Given the description of an element on the screen output the (x, y) to click on. 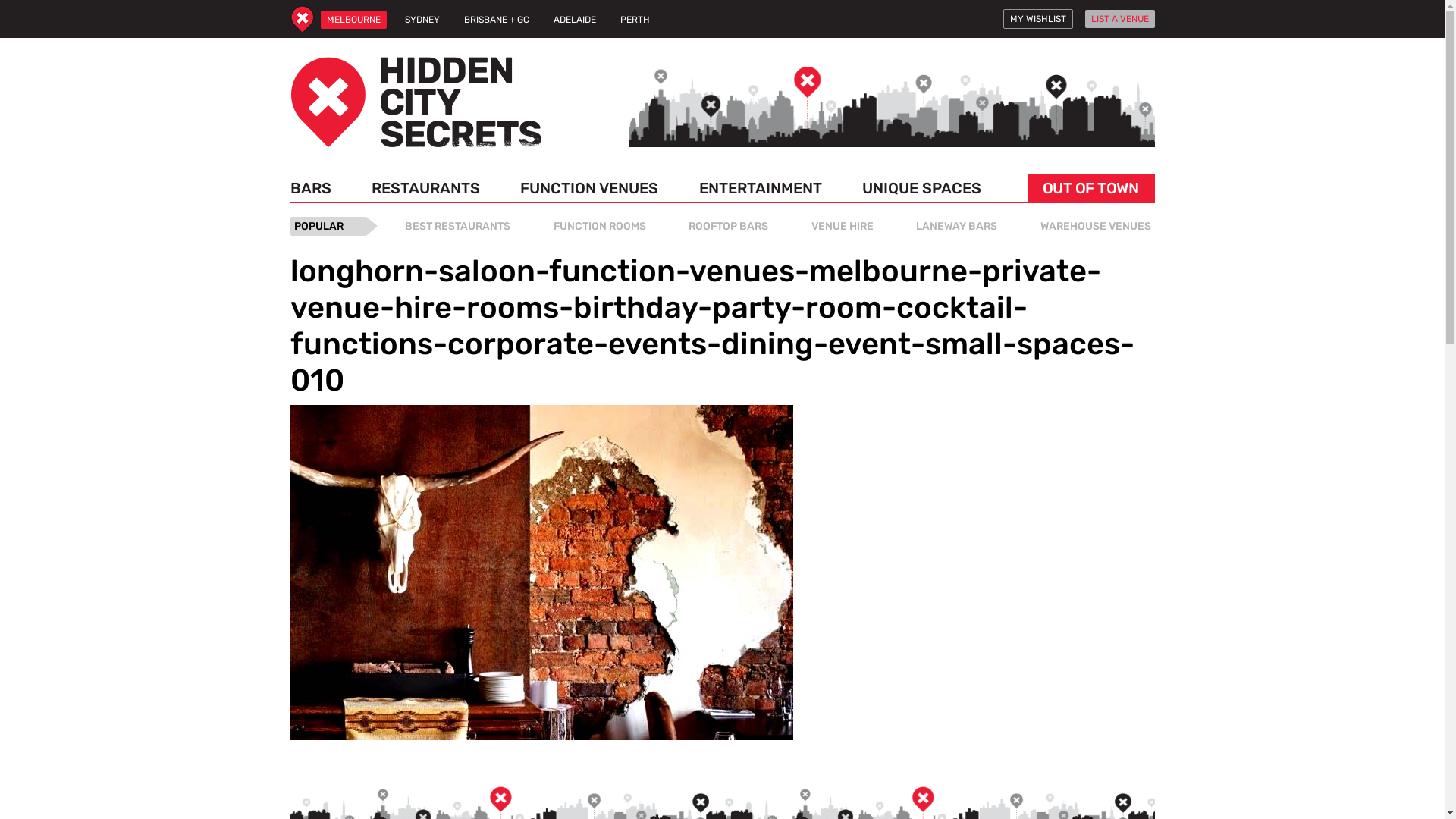
MELBOURNE Element type: text (352, 19)
ADELAIDE Element type: text (574, 19)
LANEWAY BARS Element type: text (956, 225)
FUNCTION ROOMS Element type: text (599, 225)
SYDNEY Element type: text (421, 19)
VENUE HIRE Element type: text (841, 225)
UNIQUE SPACES Element type: text (921, 187)
LIST A VENUE Element type: text (1119, 18)
ENTERTAINMENT Element type: text (760, 187)
PERTH Element type: text (634, 19)
OUT OF TOWN Element type: text (1090, 187)
BARS Element type: text (315, 187)
POPULAR Element type: text (327, 225)
WAREHOUSE VENUES Element type: text (1094, 225)
FUNCTION VENUES Element type: text (588, 187)
ROOFTOP BARS Element type: text (727, 225)
RESTAURANTS Element type: text (425, 187)
BEST RESTAURANTS Element type: text (457, 225)
MY WISHLIST Element type: text (1037, 18)
BRISBANE + GC Element type: text (496, 19)
